Given the description of an element on the screen output the (x, y) to click on. 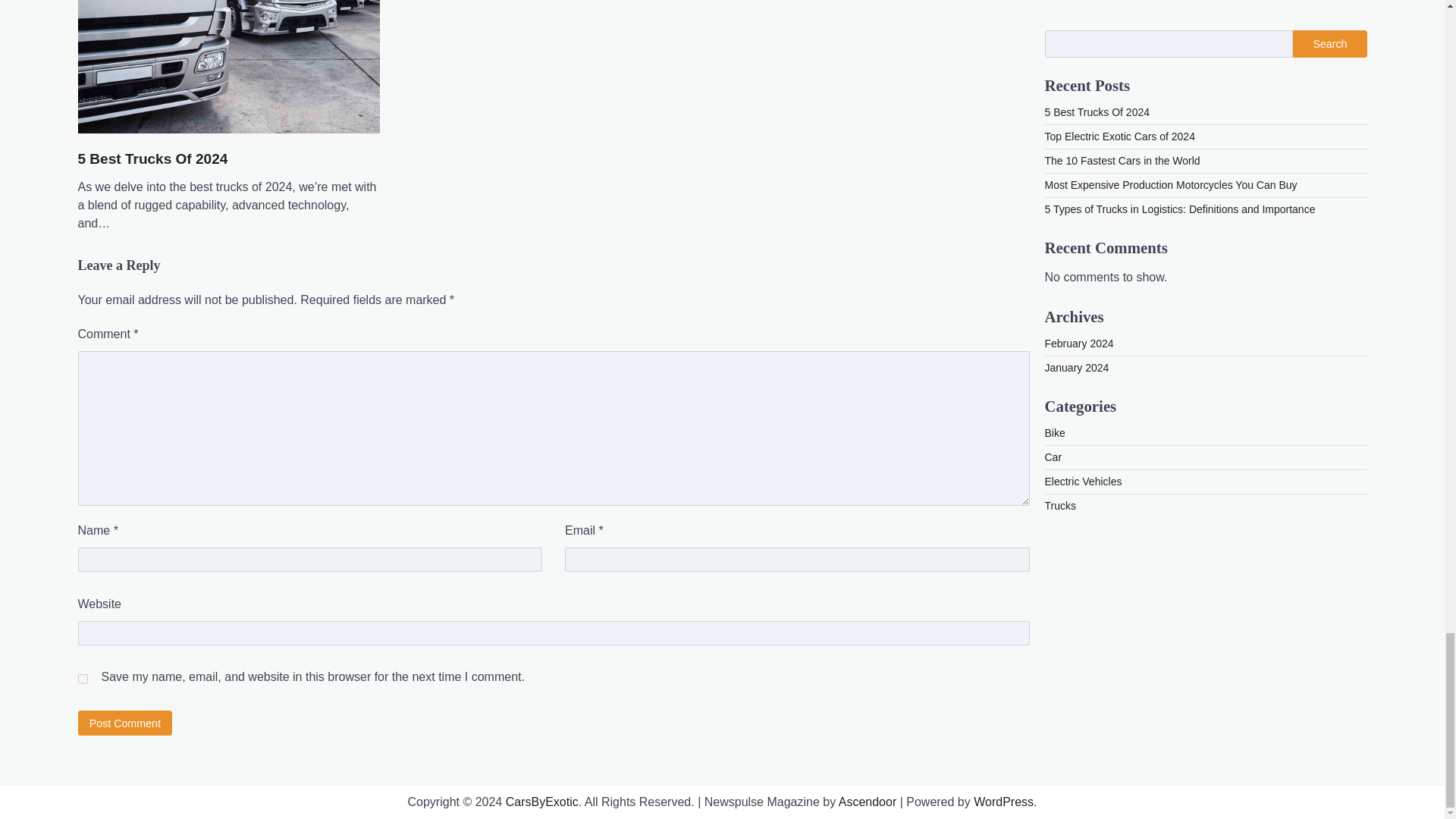
Post Comment (124, 722)
CarsByExotic (541, 801)
5 Best Trucks Of 2024 (152, 159)
WordPress (1003, 801)
Ascendoor (867, 801)
yes (82, 678)
Post Comment (124, 722)
